Given the description of an element on the screen output the (x, y) to click on. 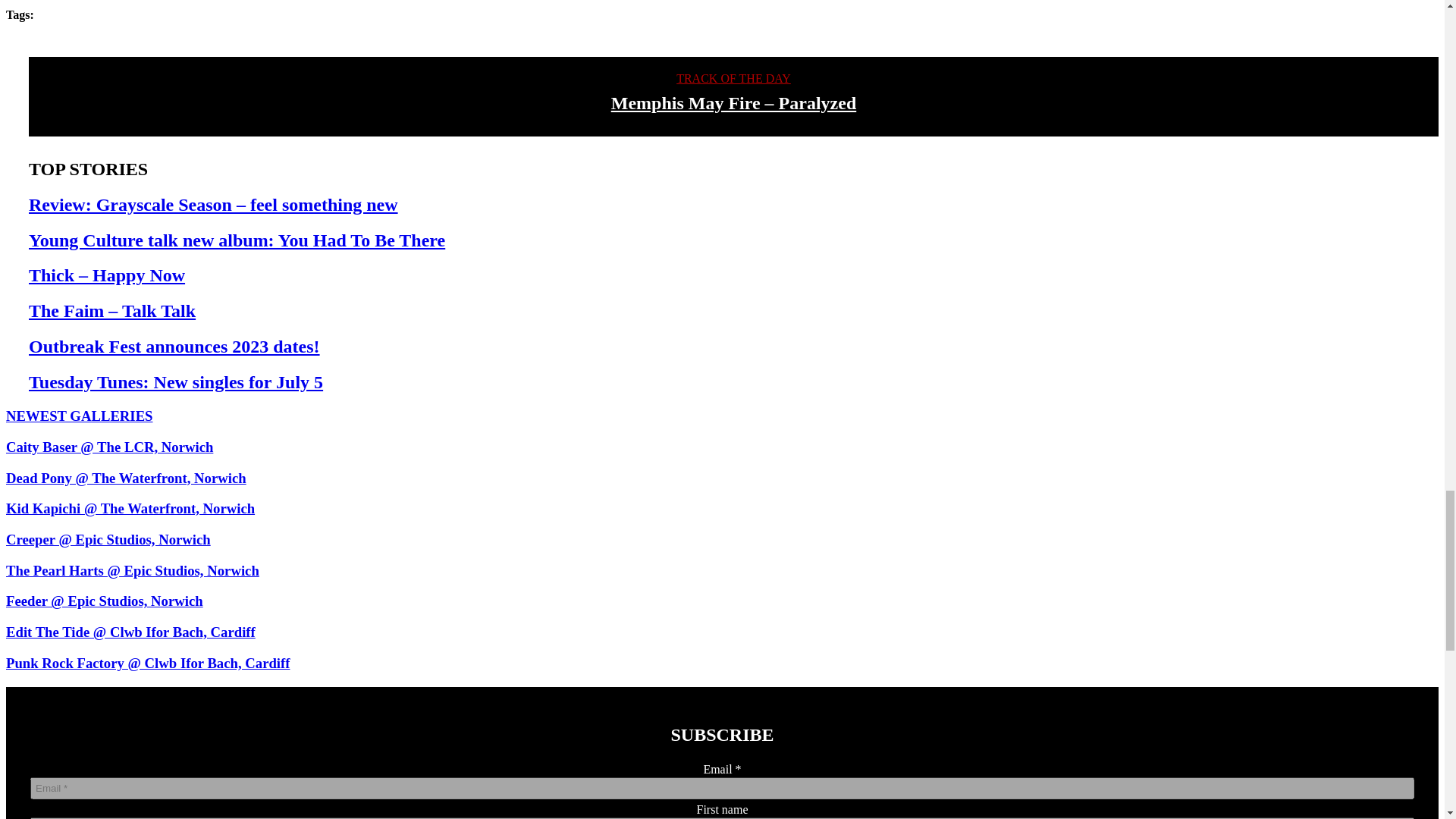
Email (721, 788)
